Given the description of an element on the screen output the (x, y) to click on. 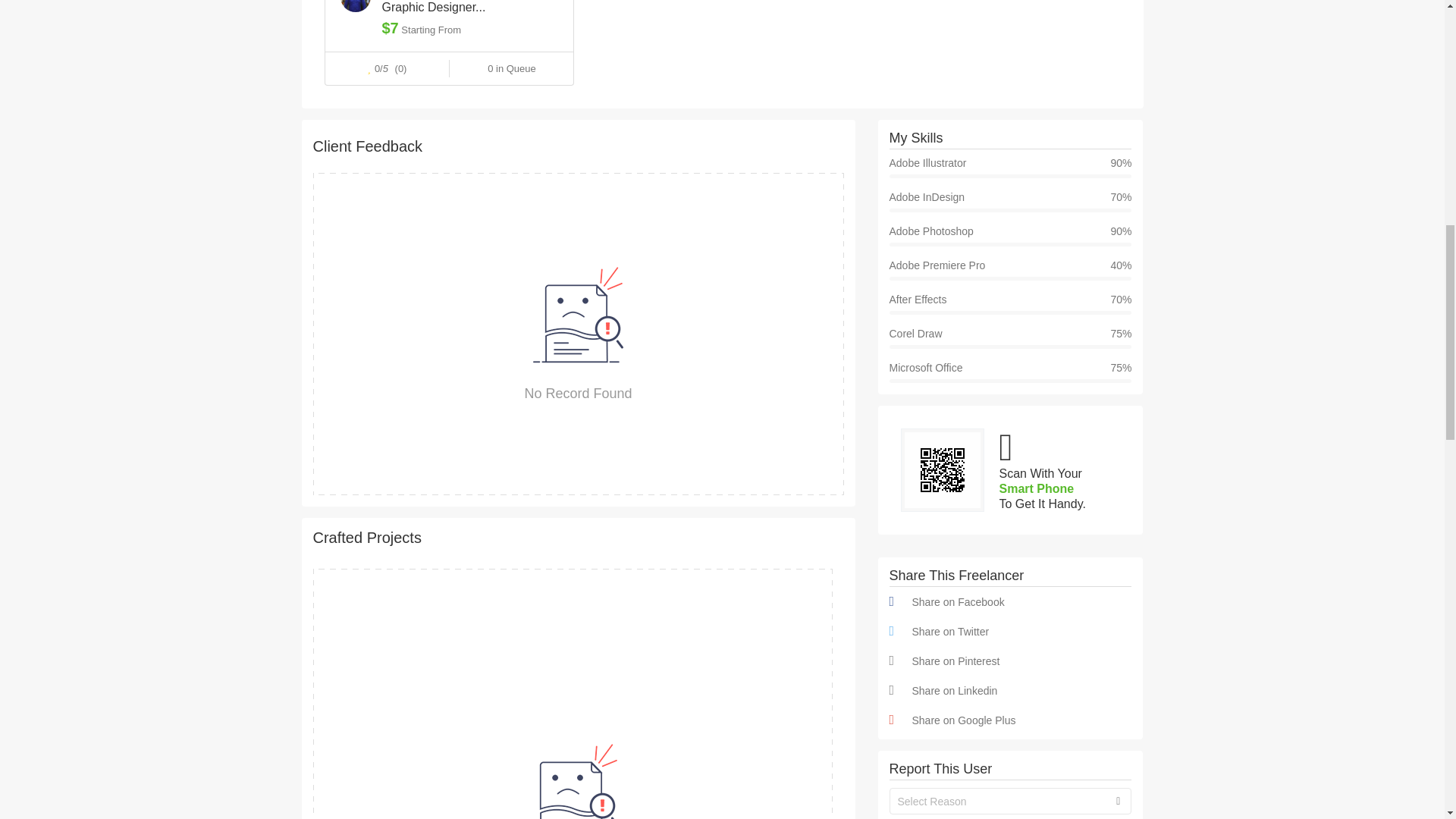
Share on Pinterest (1009, 661)
Graphic Designer... (470, 8)
Share on Linkedin (1009, 690)
Share on Facebook (1009, 601)
Share on Google Plus (1009, 720)
Share on Twitter (1009, 631)
